Given the description of an element on the screen output the (x, y) to click on. 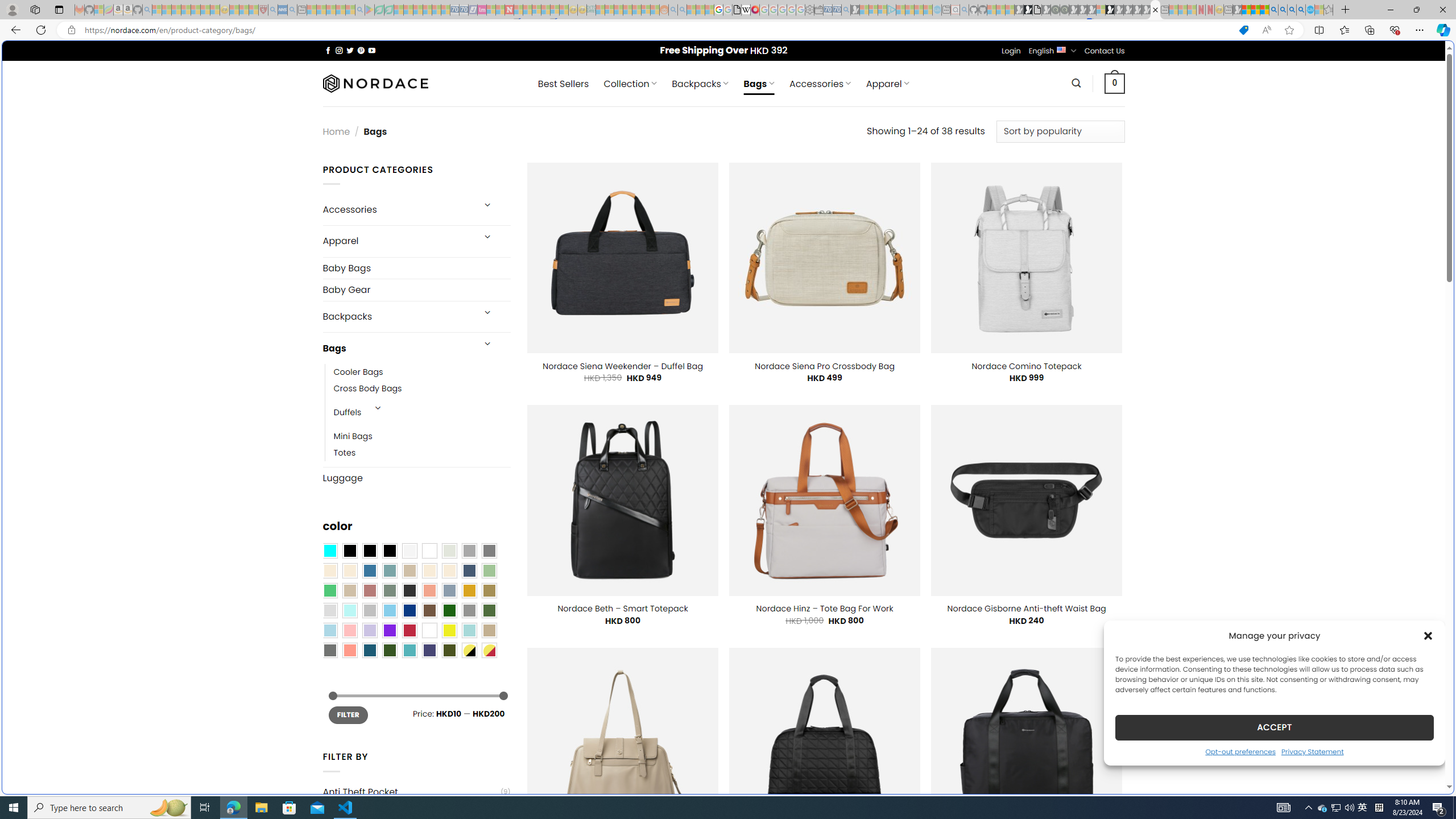
Sky Blue (389, 610)
Luggage (416, 477)
Ash Gray (449, 550)
Pink (349, 630)
Teal (408, 649)
Green (488, 610)
